Given the description of an element on the screen output the (x, y) to click on. 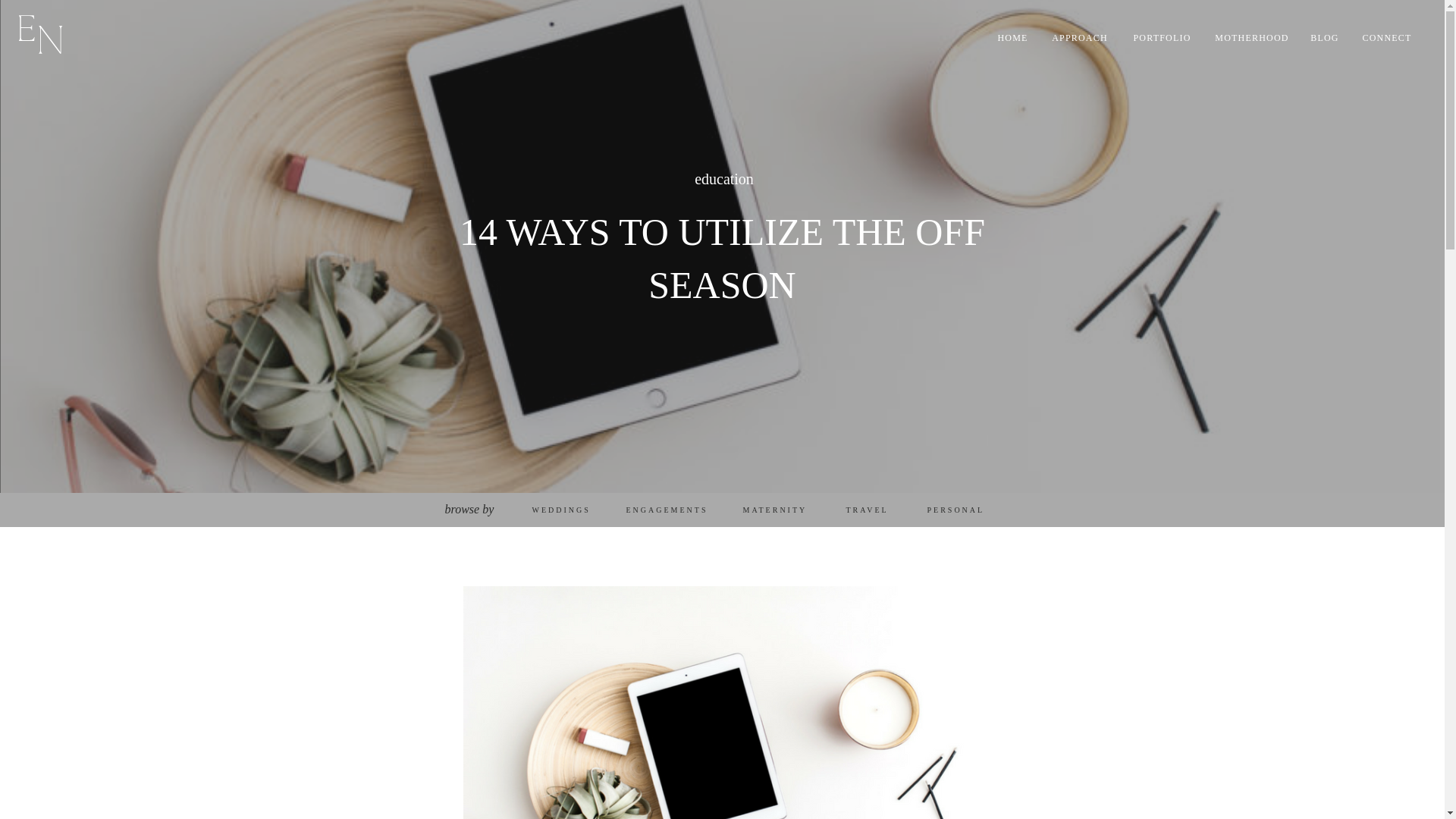
BLOG (1323, 38)
CONNECT (1386, 38)
TRAVEL (866, 509)
PORTFOLIO (1165, 38)
WEDDINGS (561, 509)
APPROACH (1079, 38)
HOME (1012, 38)
ENGAGEMENTS (670, 509)
MOTHERHOOD (1251, 38)
APPROACH (1083, 38)
